Given the description of an element on the screen output the (x, y) to click on. 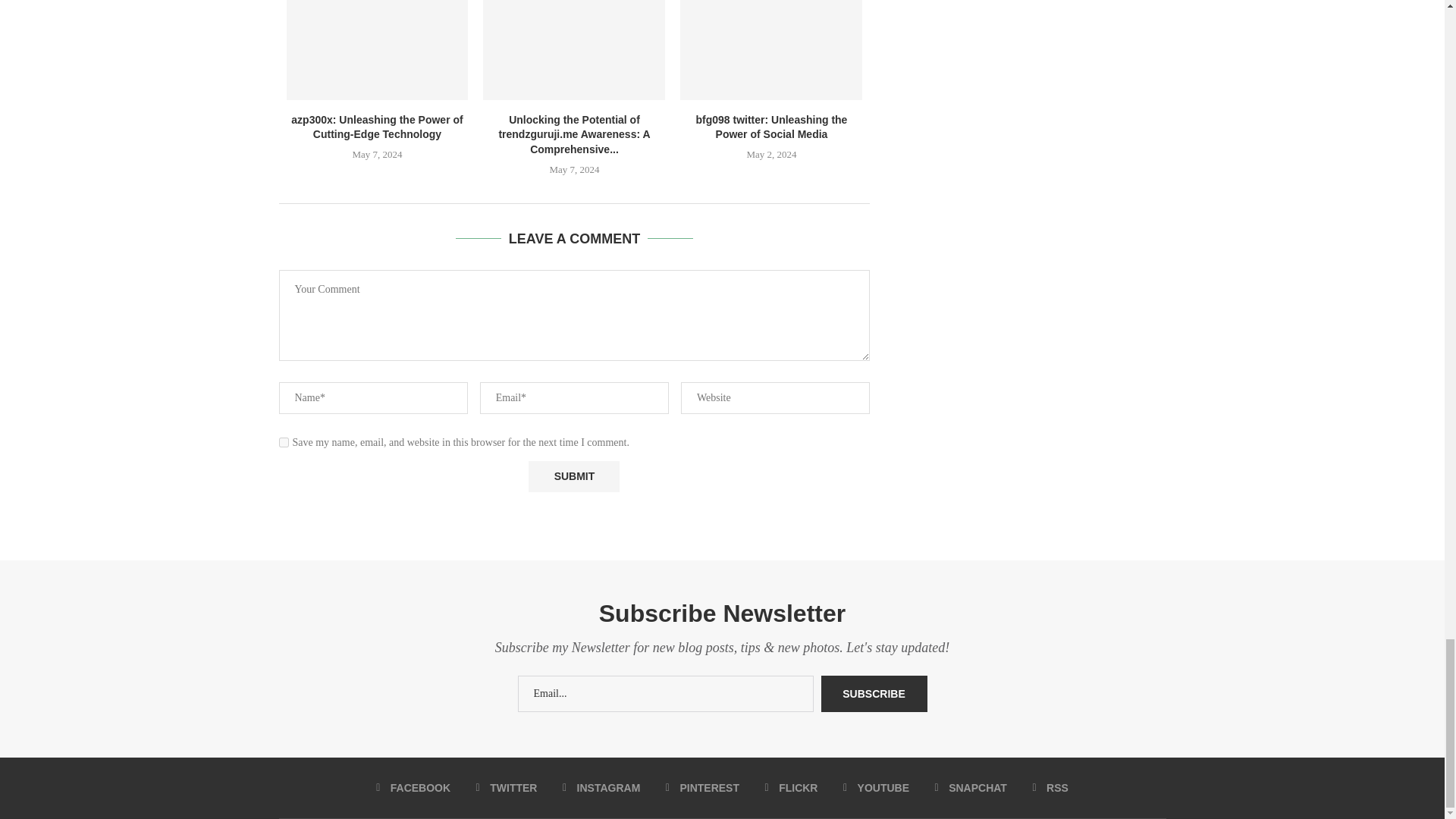
yes (283, 442)
Subscribe (873, 693)
Submit (574, 476)
